Given the description of an element on the screen output the (x, y) to click on. 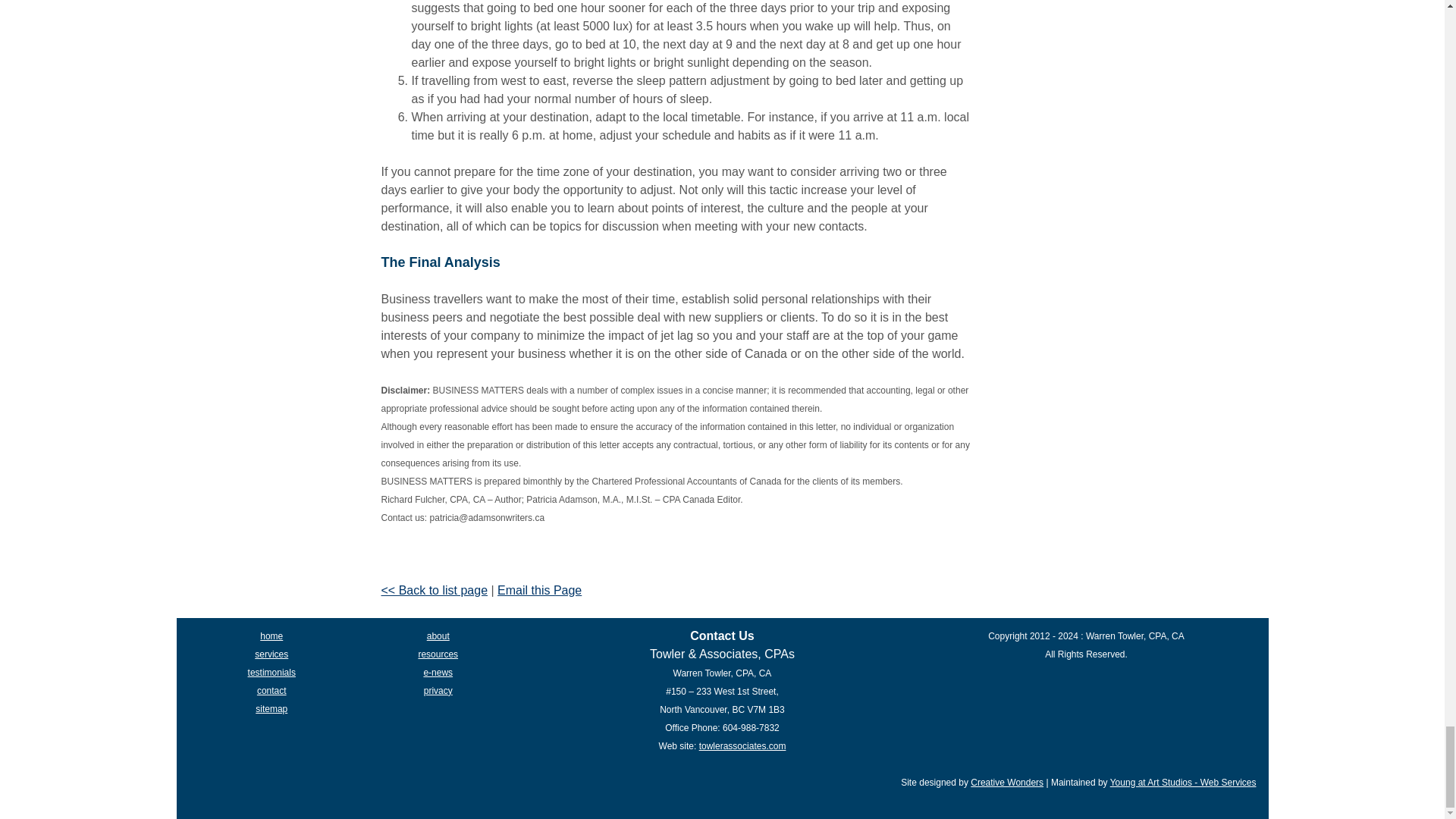
contact (271, 690)
Email this Page (538, 590)
privacy (437, 690)
towlerassociates.com (742, 746)
testimonials (271, 672)
Creative Wonders (1007, 782)
sitemap (271, 708)
e-news (437, 672)
home (271, 635)
services (271, 654)
resources (437, 654)
about (437, 635)
Young at Art Studios - Web Services (1182, 782)
